Given the description of an element on the screen output the (x, y) to click on. 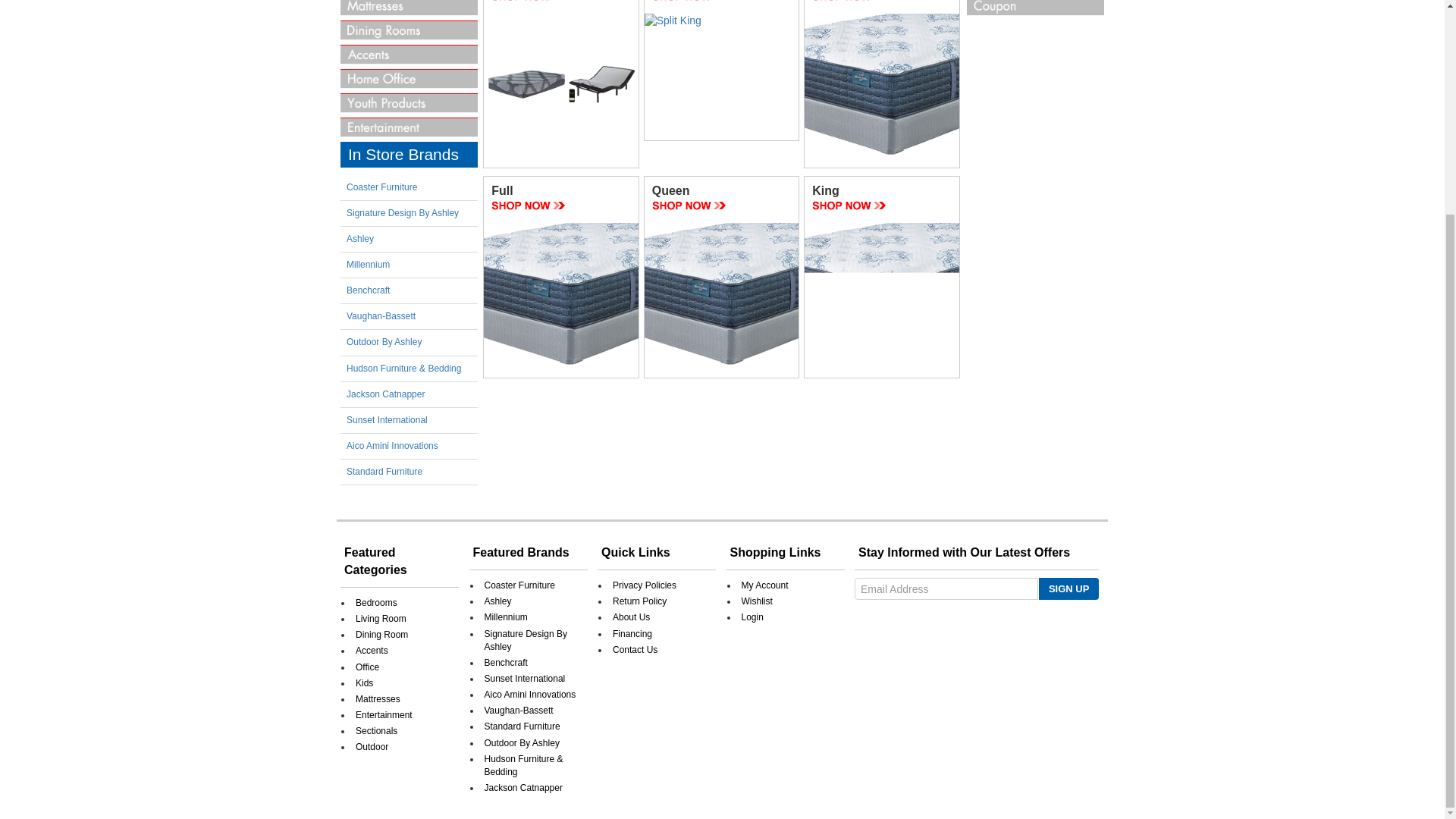
SIGN UP (1069, 588)
